Given the description of an element on the screen output the (x, y) to click on. 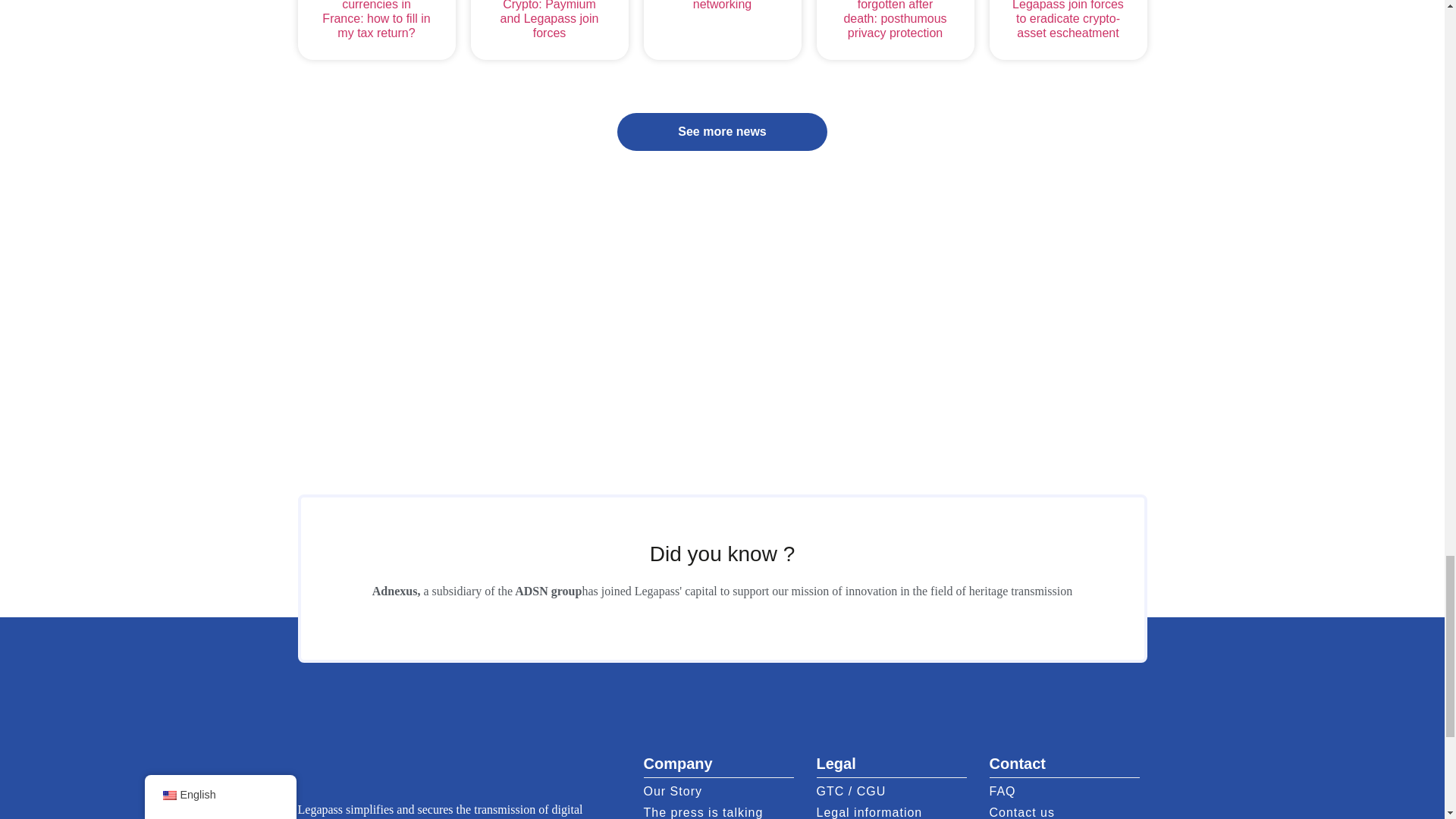
See more news (722, 131)
The risks of social networking (721, 5)
